Given the description of an element on the screen output the (x, y) to click on. 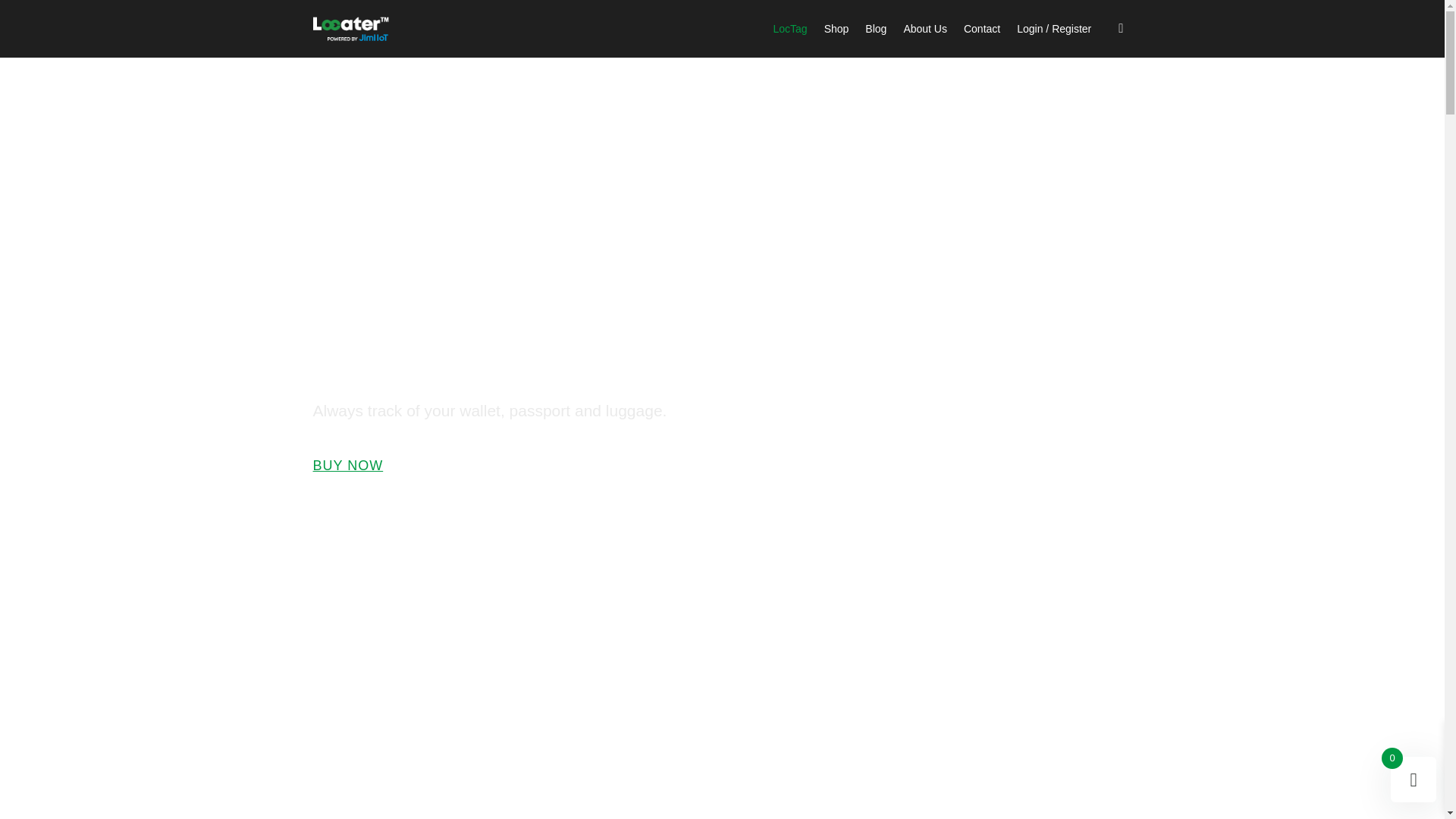
BUY NOW (354, 465)
LocTag (789, 28)
APPLE FIND MY (390, 536)
Blog (875, 28)
Shop (836, 28)
Contact (981, 28)
About Us (924, 28)
